Given the description of an element on the screen output the (x, y) to click on. 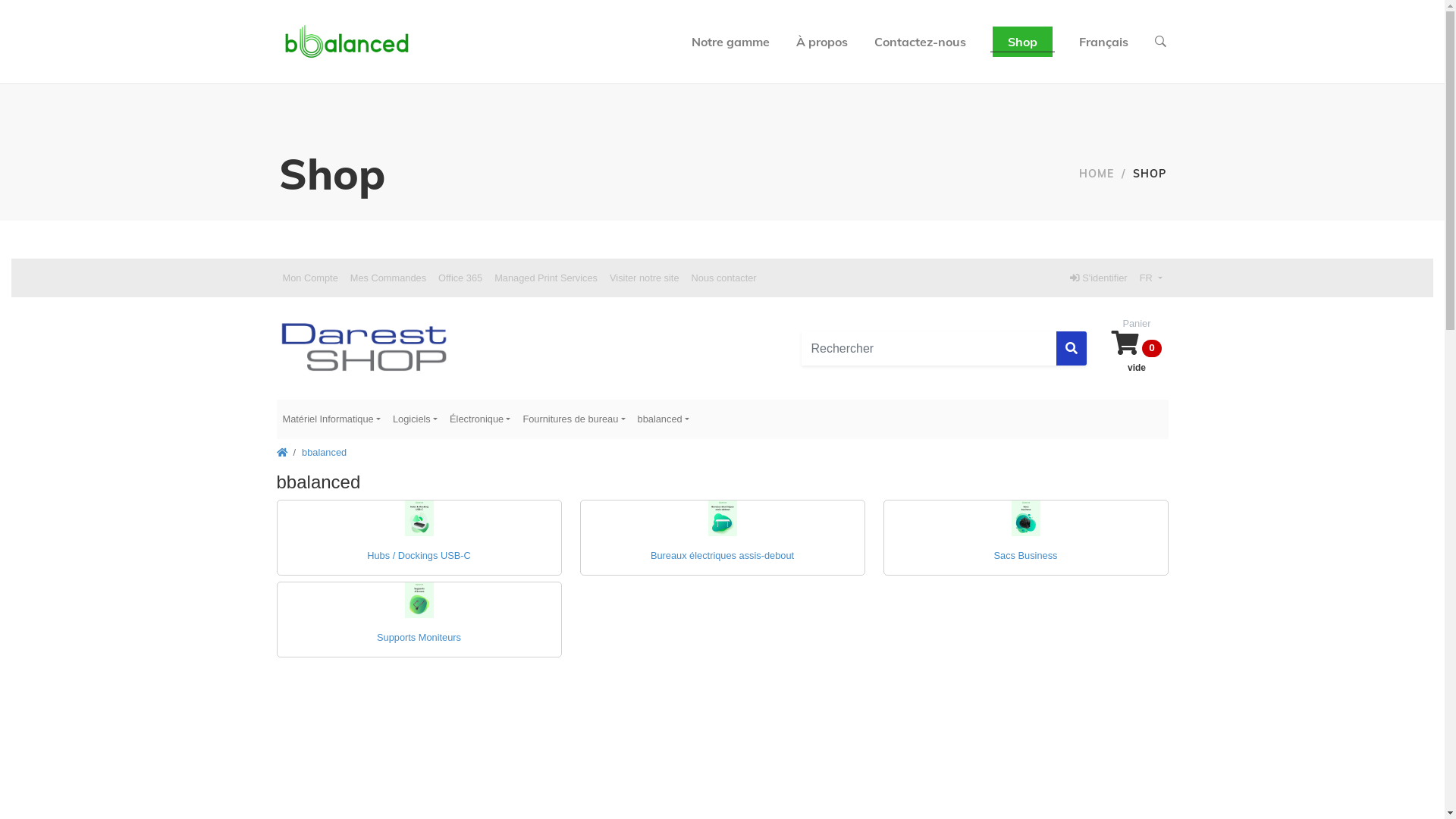
Notre gamme Element type: text (730, 41)
HOME Element type: text (1095, 173)
Shop Element type: text (1021, 41)
Contactez-nous Element type: text (919, 41)
